Given the description of an element on the screen output the (x, y) to click on. 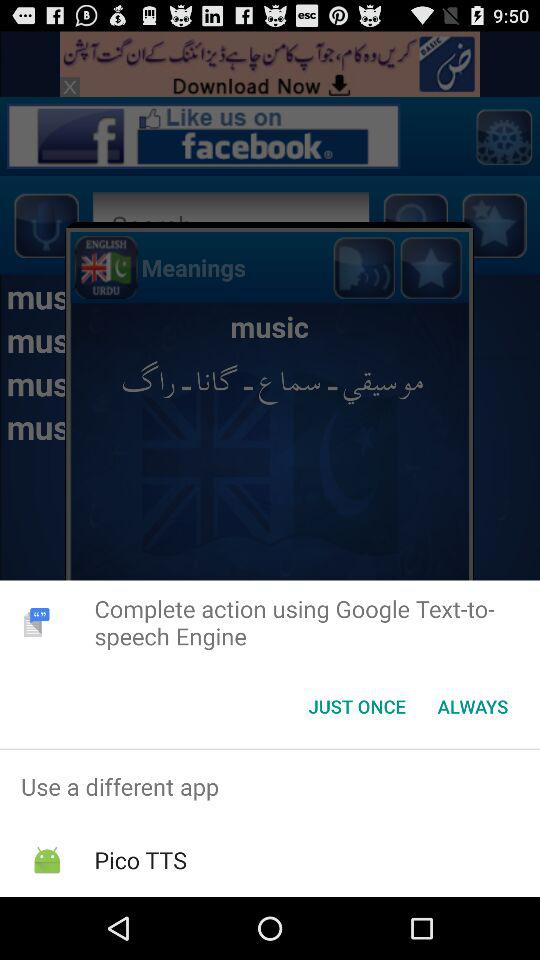
select the app below complete action using icon (356, 706)
